Given the description of an element on the screen output the (x, y) to click on. 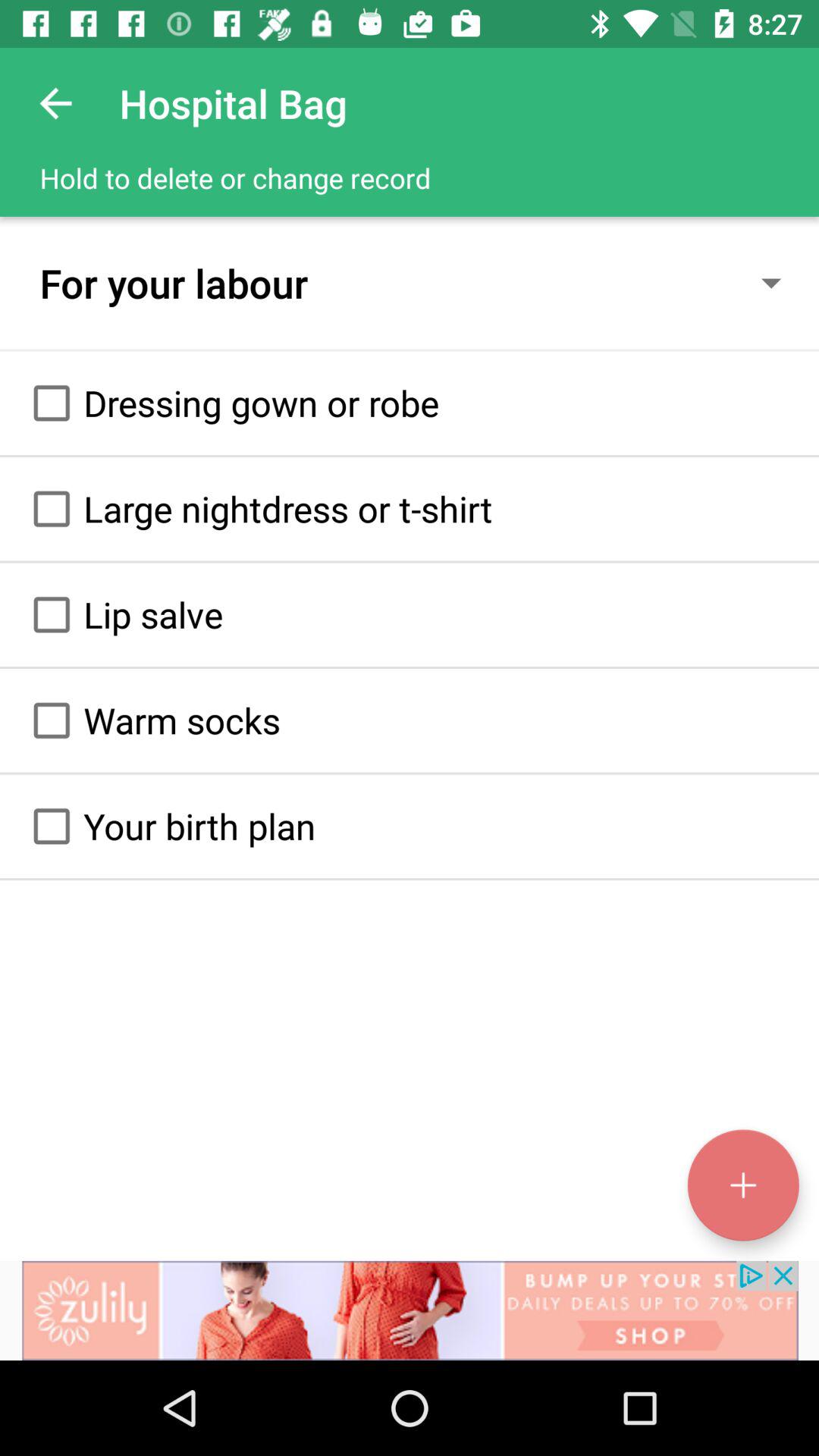
select option (51, 720)
